Given the description of an element on the screen output the (x, y) to click on. 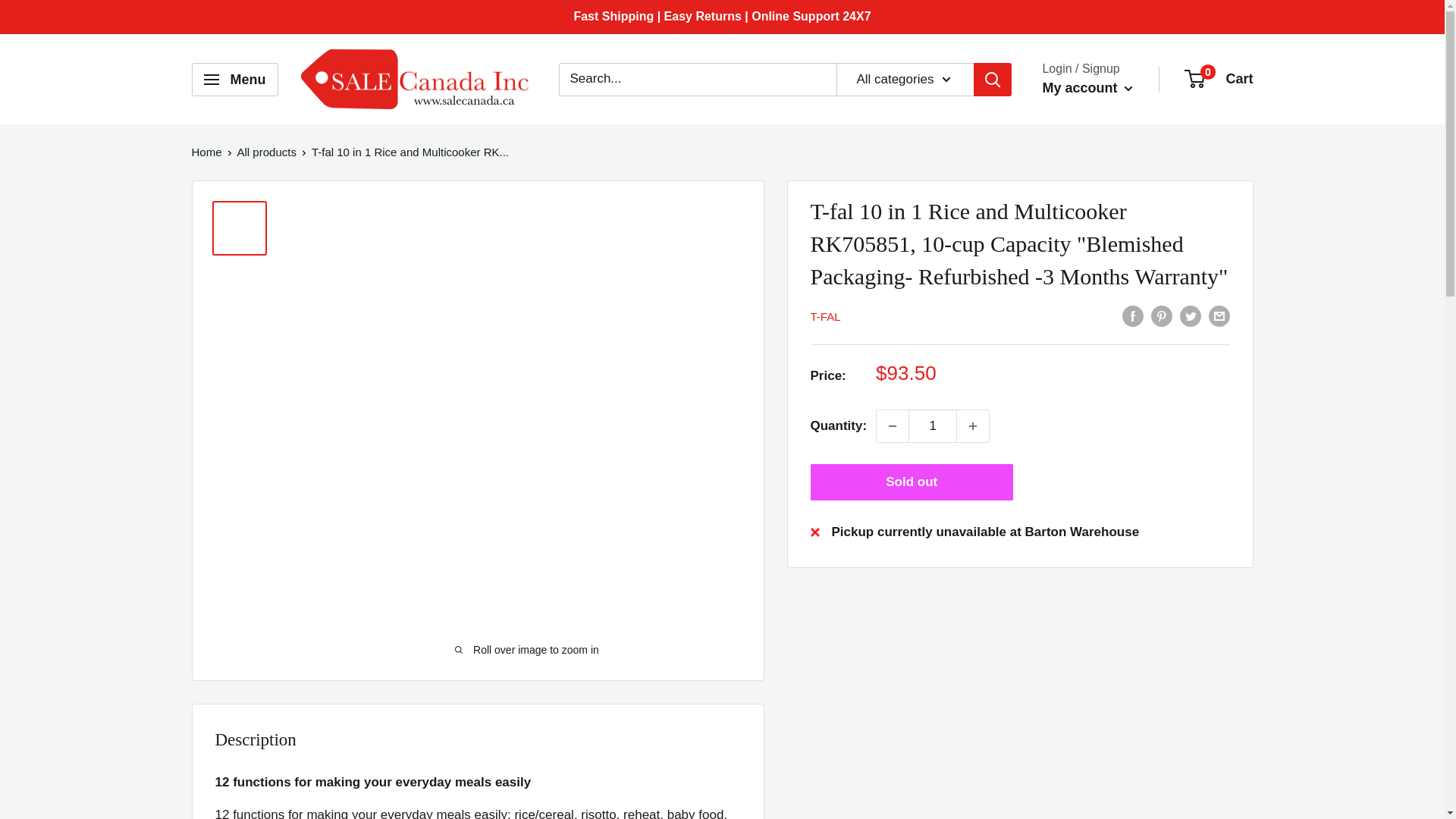
Increase quantity by 1 (972, 426)
1 (932, 426)
Decrease quantity by 1 (892, 426)
